Given the description of an element on the screen output the (x, y) to click on. 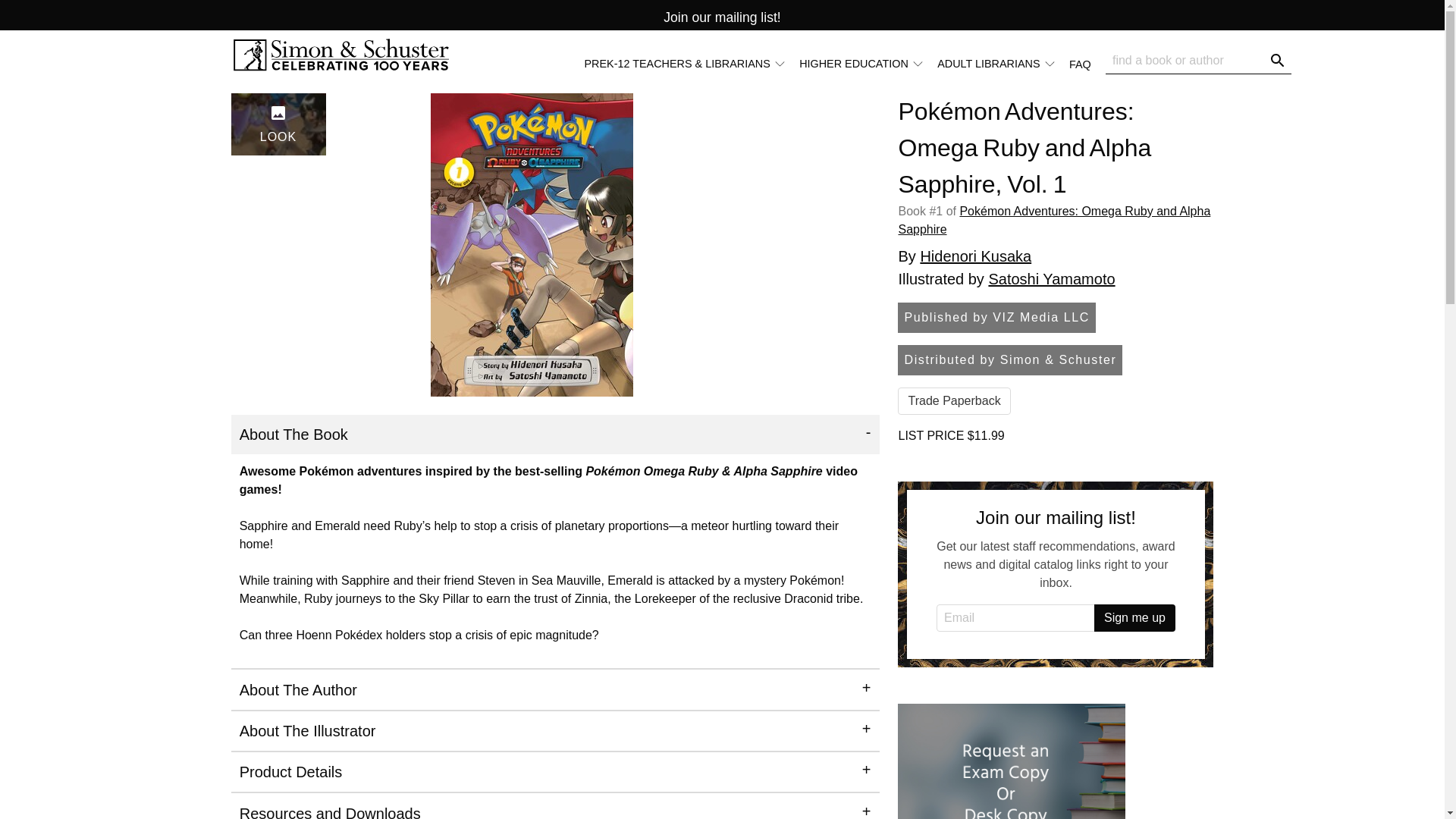
ADULT LIBRARIANS (995, 63)
FAQ (1079, 63)
Request an Exam Copy or Desk Copy (1011, 761)
HIGHER EDUCATION (868, 63)
HIGHER EDUCATION (861, 63)
LOOK (278, 123)
ADULT LIBRARIANS (1002, 63)
FAQ (1086, 63)
Sign me up (1134, 617)
Join our mailing list! (721, 17)
